Given the description of an element on the screen output the (x, y) to click on. 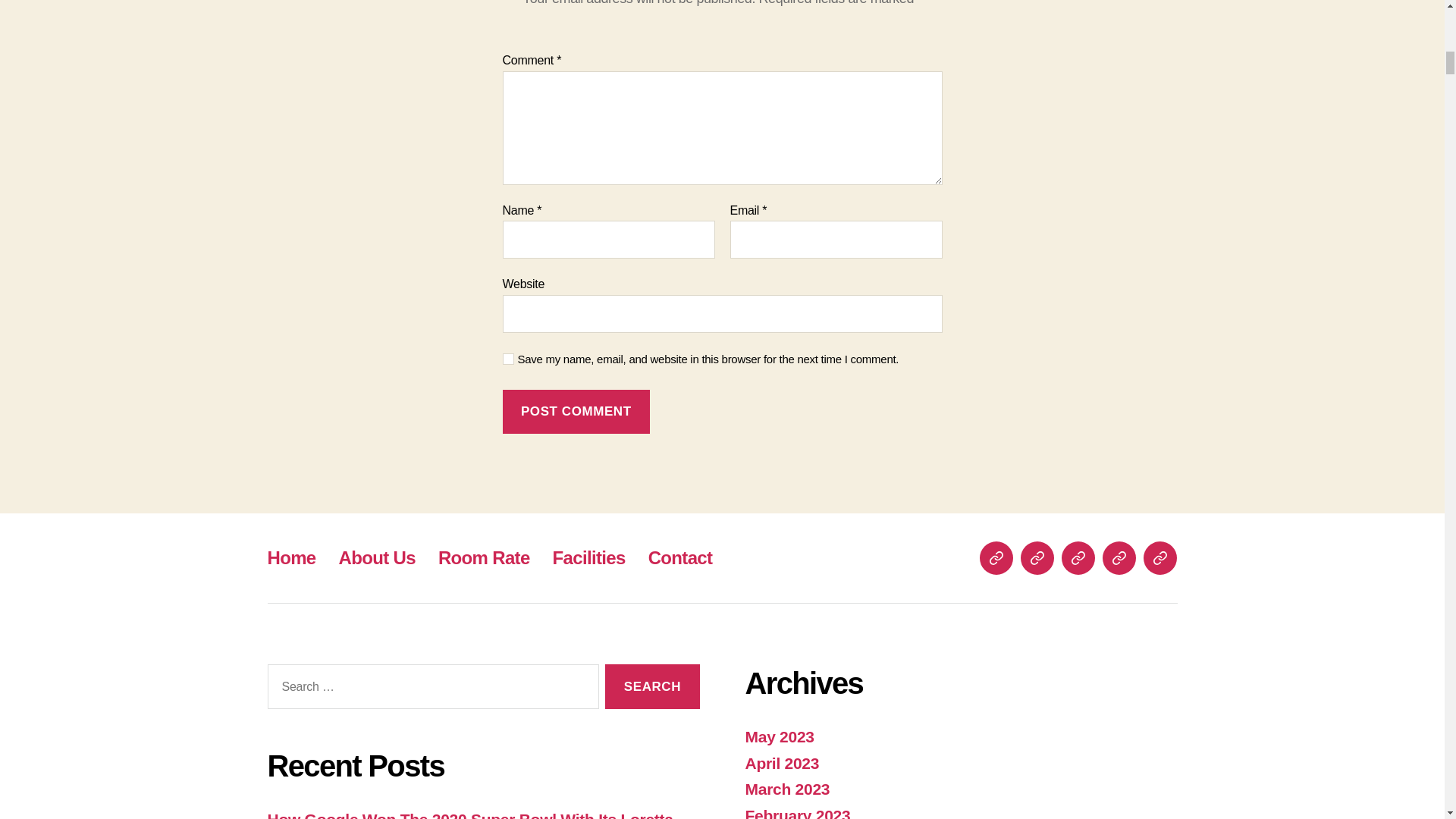
Search (651, 686)
yes (507, 358)
Search (651, 686)
About Us (376, 557)
Post Comment (575, 411)
Post Comment (575, 411)
Home (290, 557)
